Given the description of an element on the screen output the (x, y) to click on. 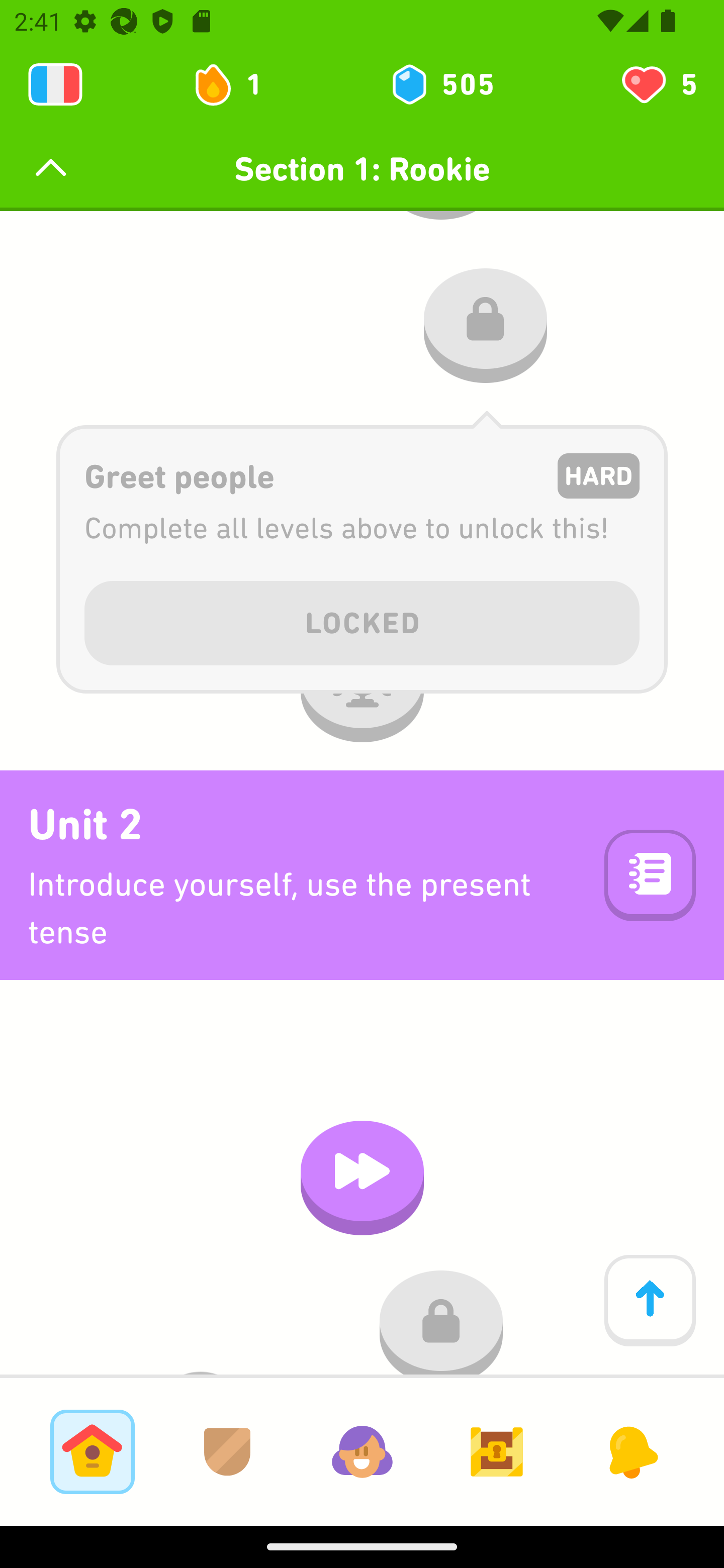
Learning 2131888976 (55, 84)
1 day streak 1 (236, 84)
505 (441, 84)
You have 5 hearts left 5 (657, 84)
Section 1: Rookie (362, 169)
LOCKED (361, 618)
Learn Tab (91, 1451)
Leagues Tab (227, 1451)
Profile Tab (361, 1451)
Goals Tab (496, 1451)
News Tab (631, 1451)
